Given the description of an element on the screen output the (x, y) to click on. 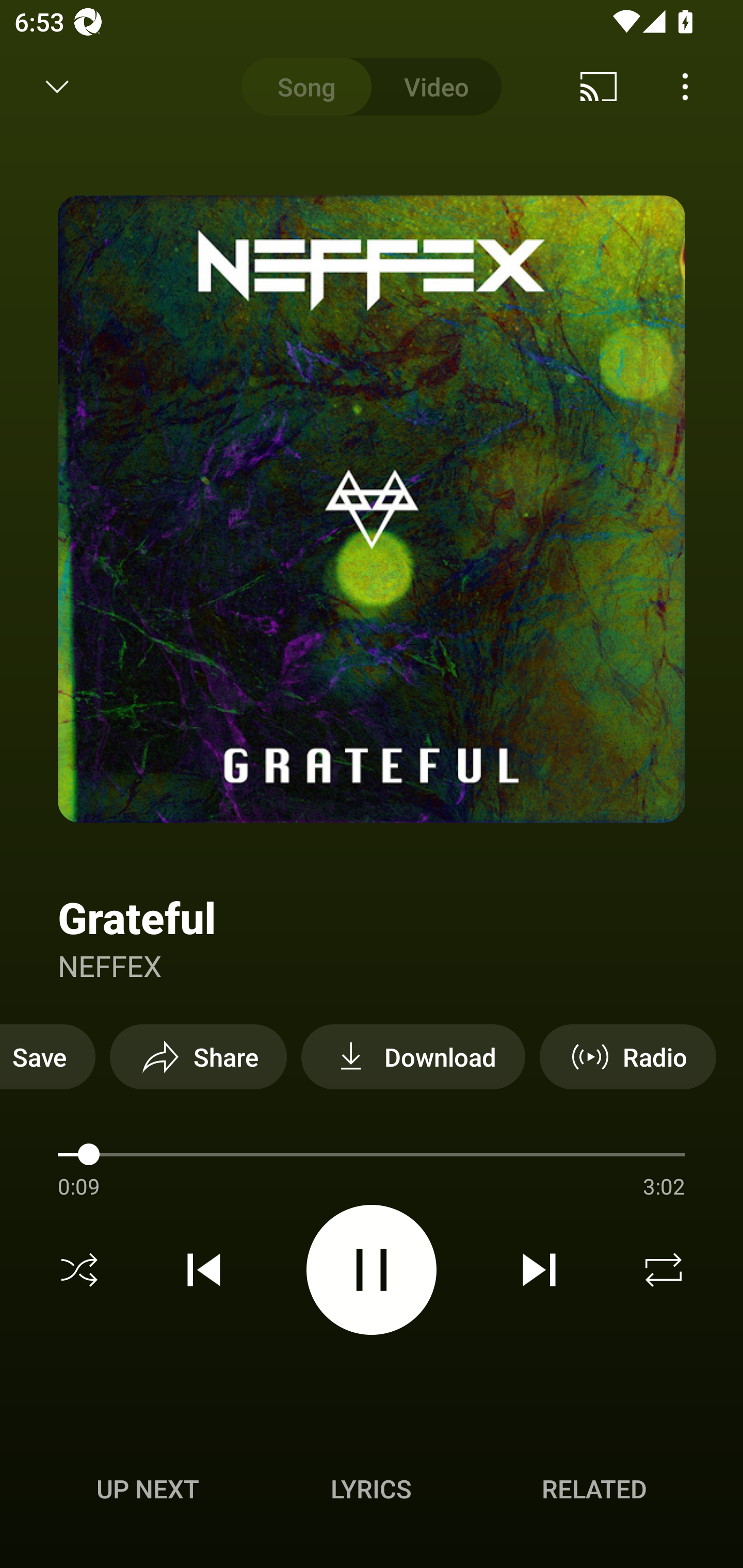
Minimize (57, 86)
Cast. Disconnected (598, 86)
Menu (684, 86)
Save Save to playlist (47, 1056)
Share (197, 1056)
Download (413, 1056)
Radio (627, 1056)
Pause video (371, 1269)
Shuffle off (79, 1269)
Previous track (203, 1269)
Next track (538, 1269)
Repeat off (663, 1269)
Up next UP NEXT Lyrics LYRICS Related RELATED (371, 1491)
Lyrics LYRICS (370, 1488)
Related RELATED (594, 1488)
